Given the description of an element on the screen output the (x, y) to click on. 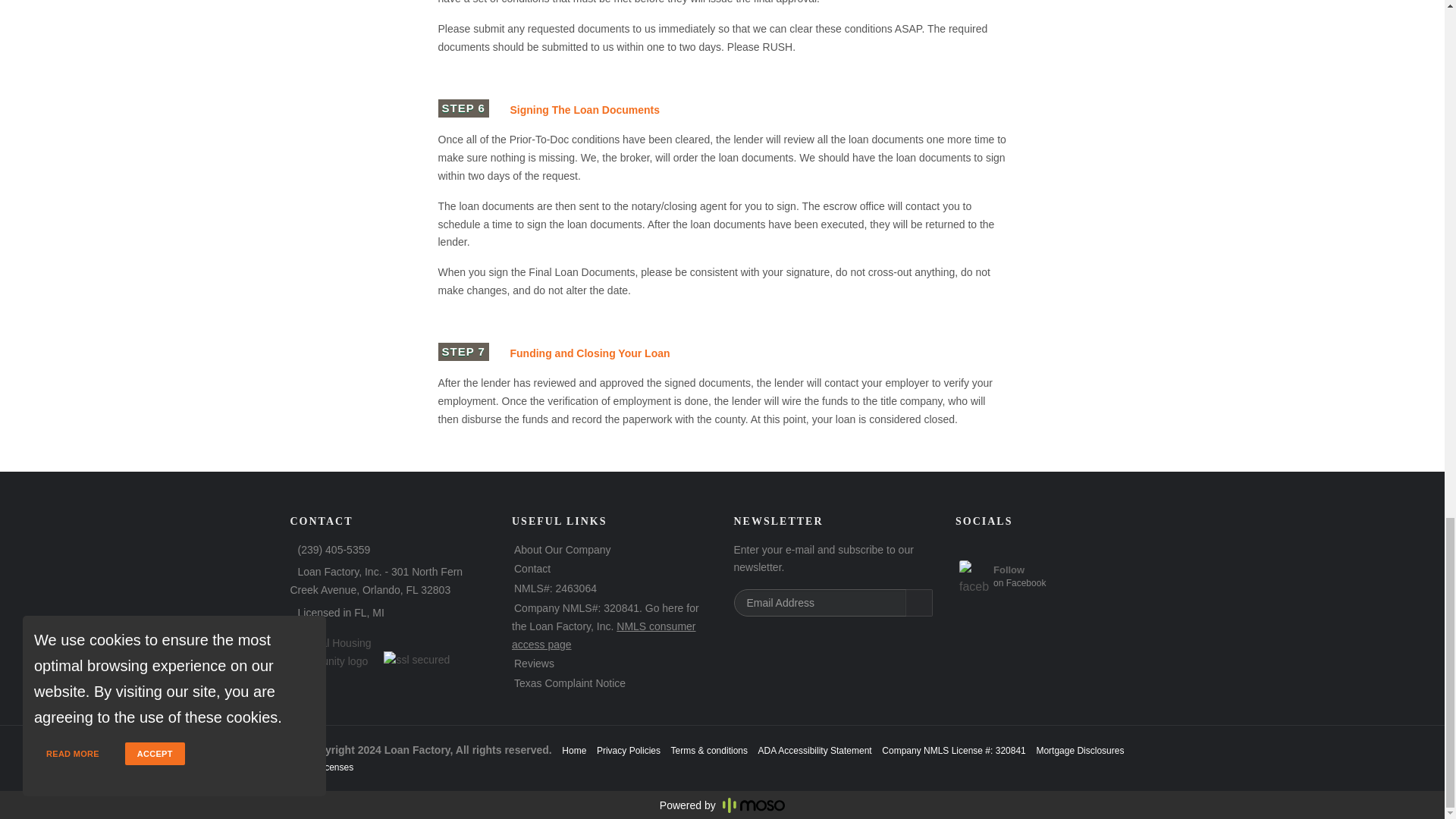
Home (574, 750)
Contact (531, 568)
Texas Complaint Notice (569, 683)
Reviews (533, 663)
ADA Accessibility Statement (1002, 584)
Privacy Policies (815, 750)
About Our Company (628, 750)
